Given the description of an element on the screen output the (x, y) to click on. 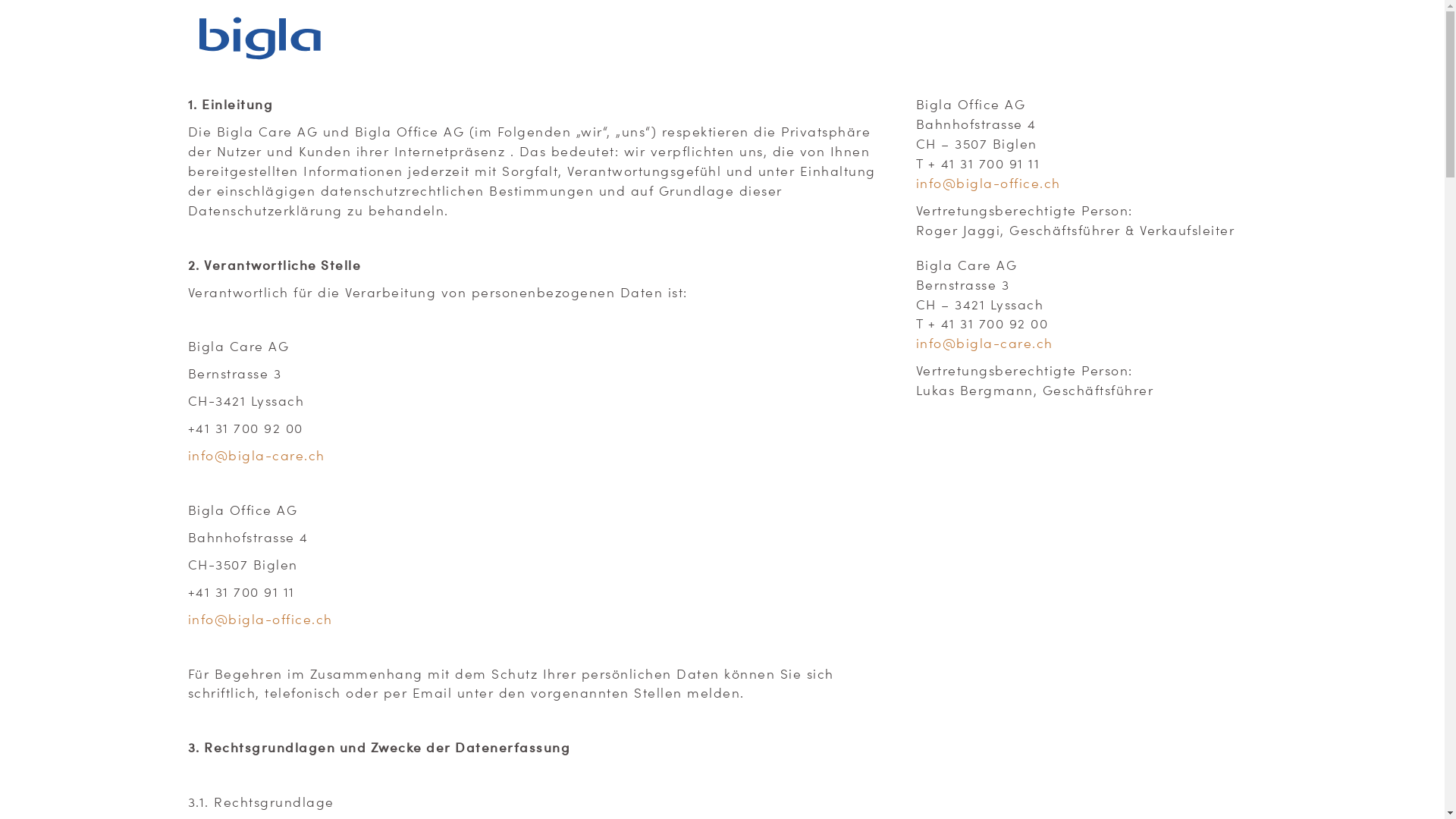
info@bigla-care.ch Element type: text (256, 454)
info@bigla-office.ch Element type: text (988, 182)
info@bigla-care.ch Element type: text (984, 342)
info@bigla-office.ch Element type: text (260, 618)
